Given the description of an element on the screen output the (x, y) to click on. 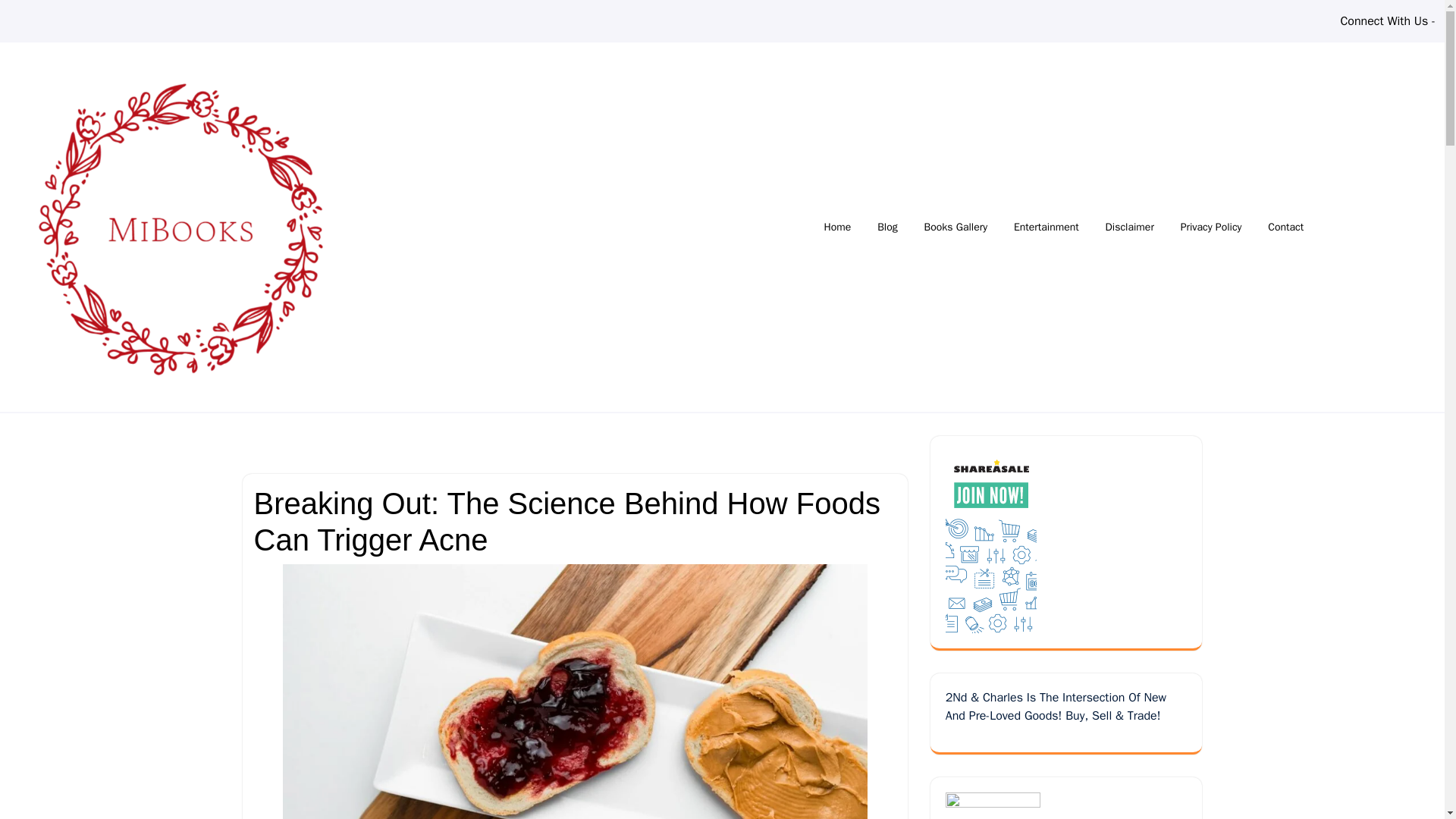
Books Gallery (955, 226)
Contact (1285, 226)
Privacy Policy (1211, 226)
Disclaimer (1130, 226)
Blog (887, 226)
Home (837, 226)
Entertainment (1046, 226)
